Given the description of an element on the screen output the (x, y) to click on. 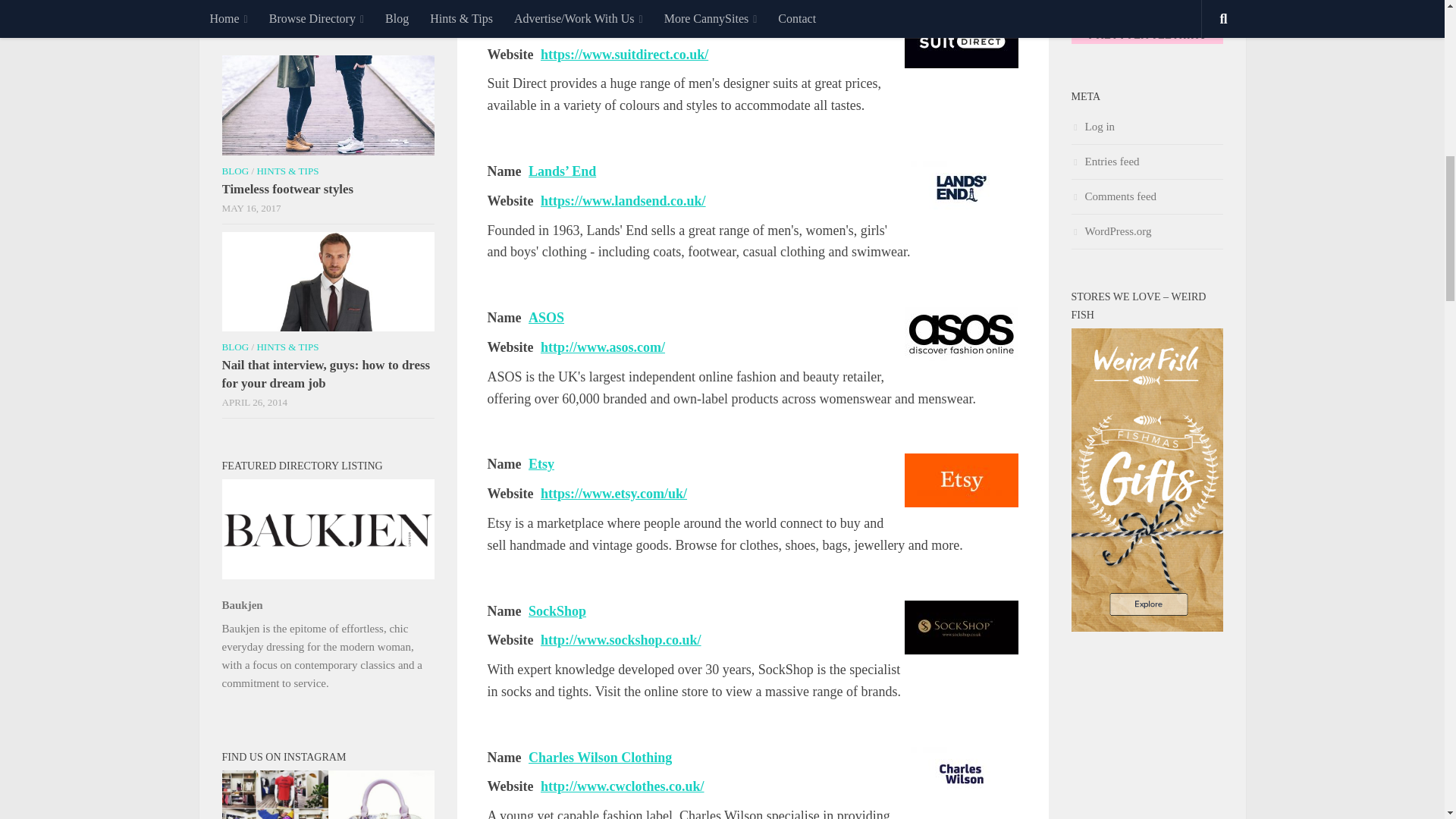
Suit Direct (960, 40)
